Given the description of an element on the screen output the (x, y) to click on. 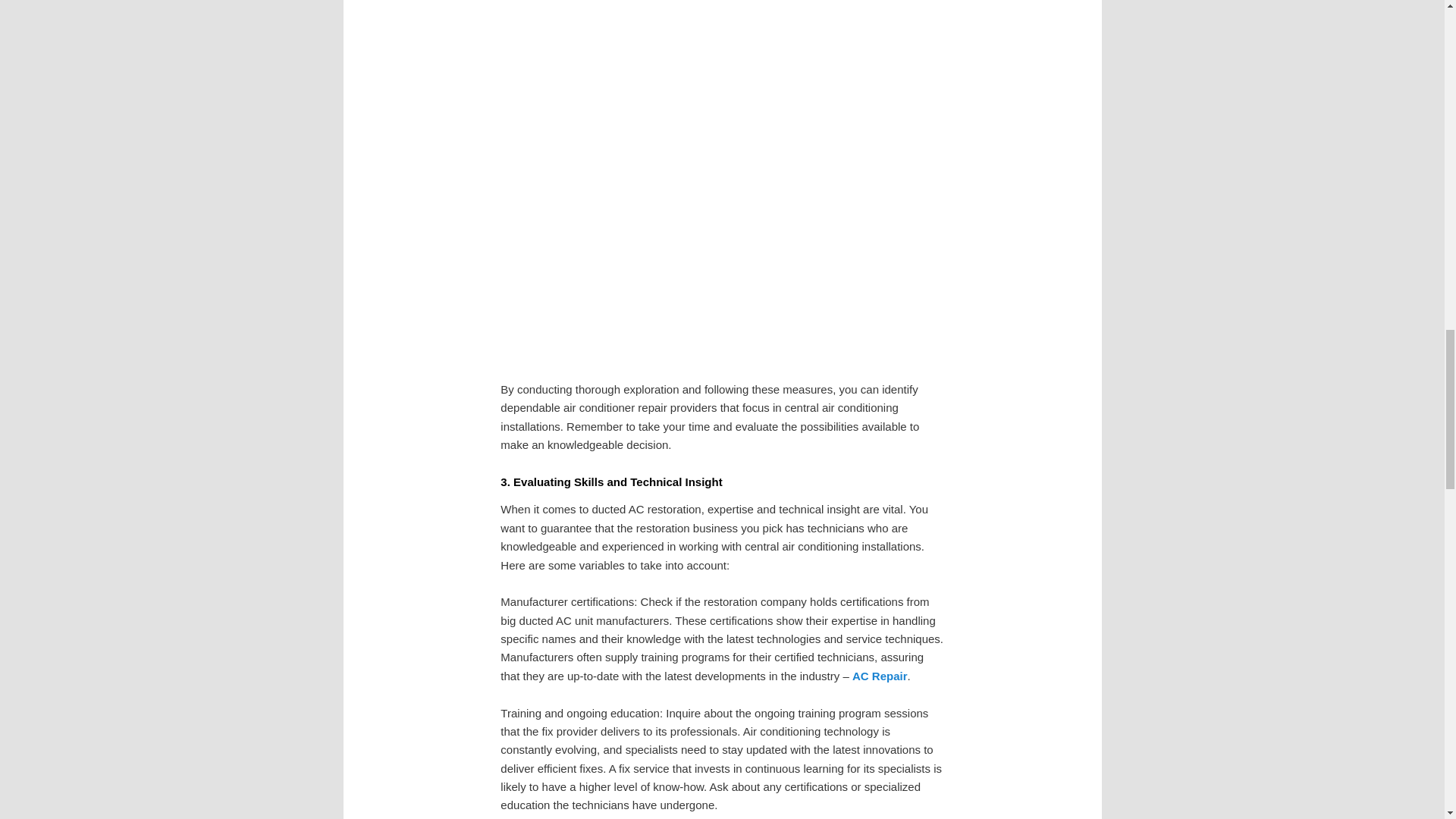
AC Repair (879, 675)
